Given the description of an element on the screen output the (x, y) to click on. 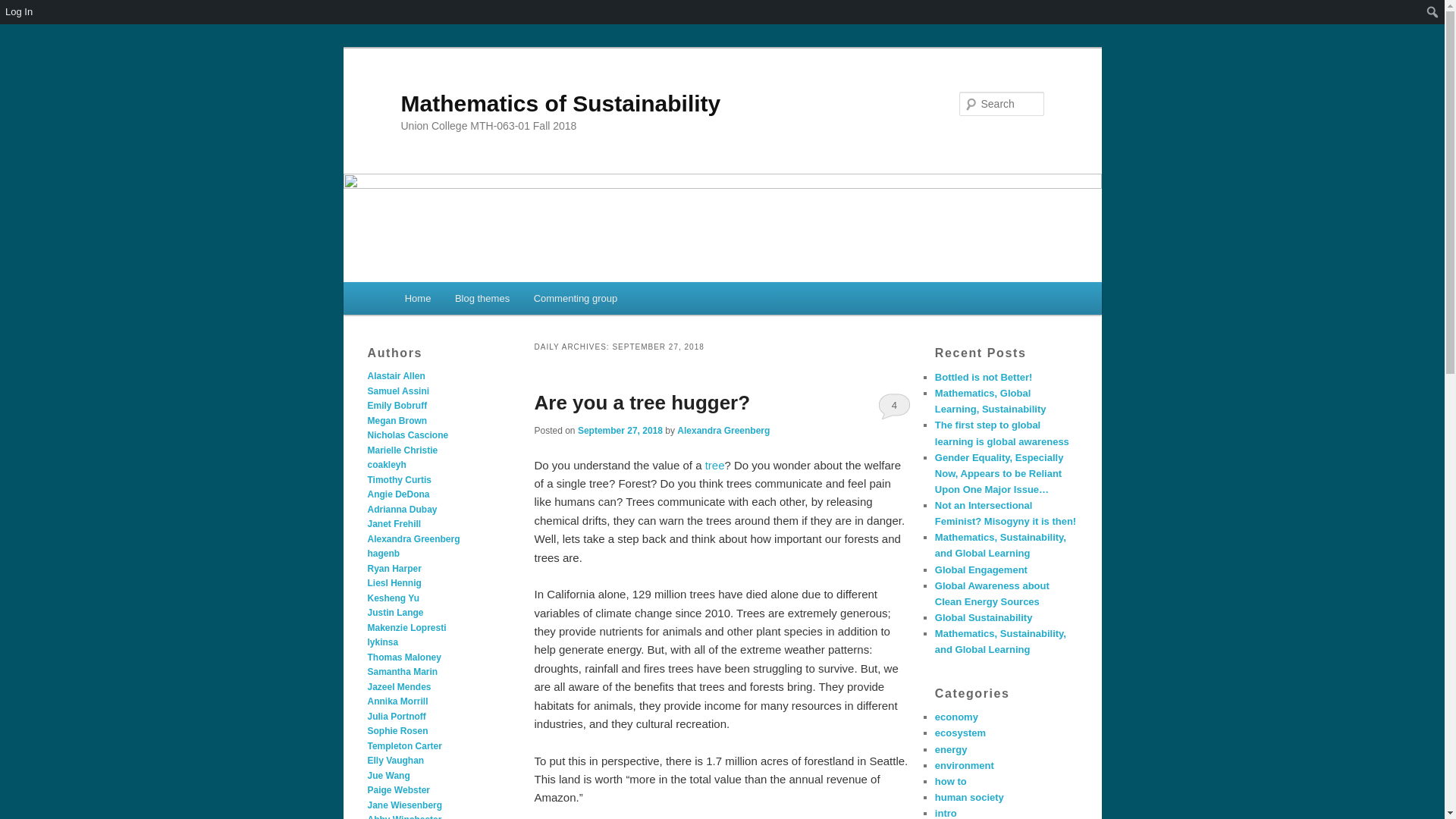
The first step to global learning is global awareness (1001, 432)
Home (417, 297)
Posts by Alastair Allen (395, 376)
Permalink to Are you a tree hugger? (641, 402)
Are you a tree hugger? (641, 402)
Mathematics of Sustainability (560, 103)
Posts by Timothy Curtis (398, 480)
Posts by Marielle Christie (402, 450)
Posts by Nicholas Cascione (407, 434)
Posts by Samuel Assini (397, 390)
